Given the description of an element on the screen output the (x, y) to click on. 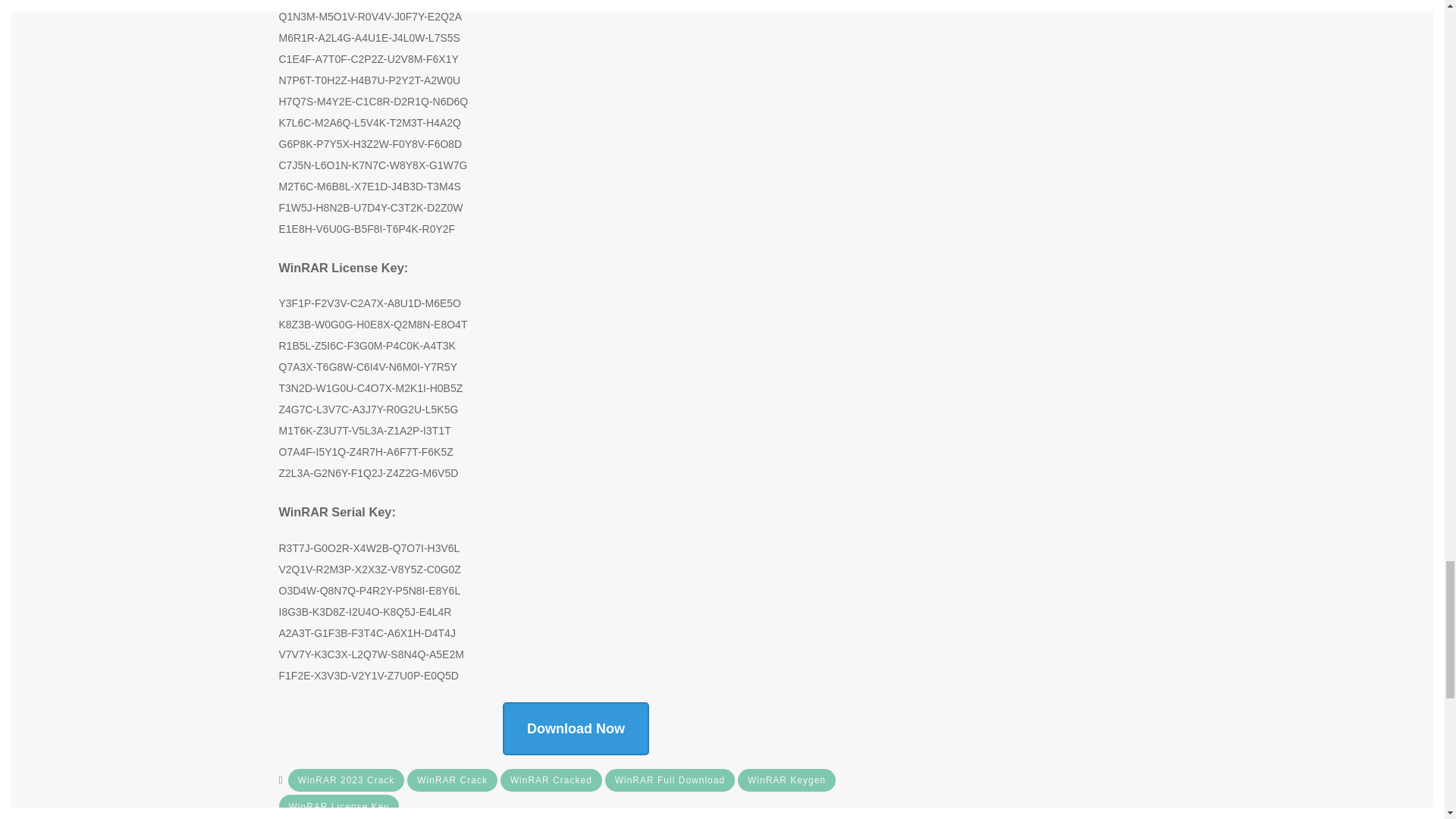
Download Now (575, 728)
